Given the description of an element on the screen output the (x, y) to click on. 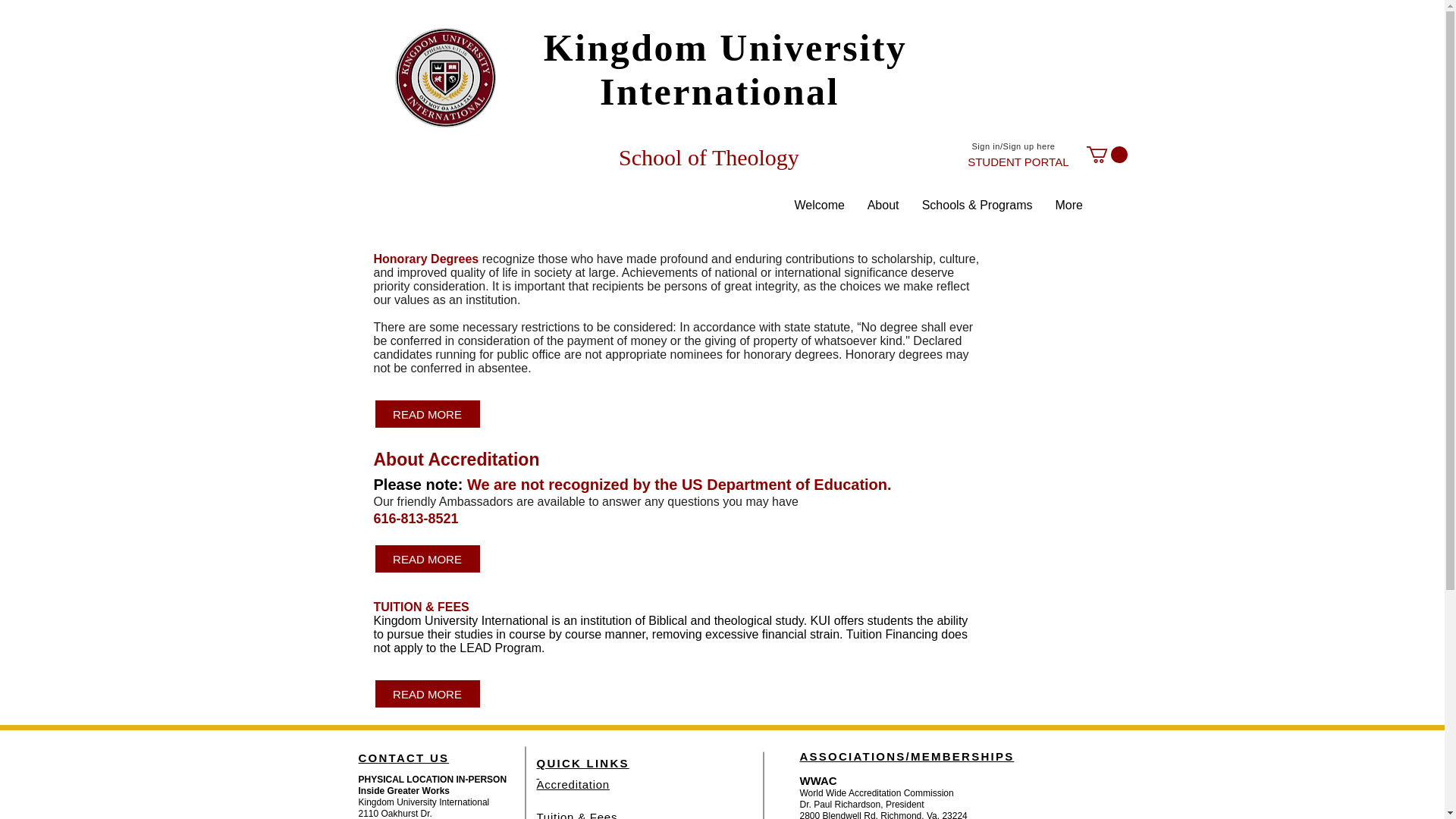
READ MORE (426, 558)
Welcome (819, 205)
Kingdom University International (725, 69)
READ MORE (426, 693)
READ MORE (426, 413)
About (582, 774)
STUDENT PORTAL (883, 205)
